Given the description of an element on the screen output the (x, y) to click on. 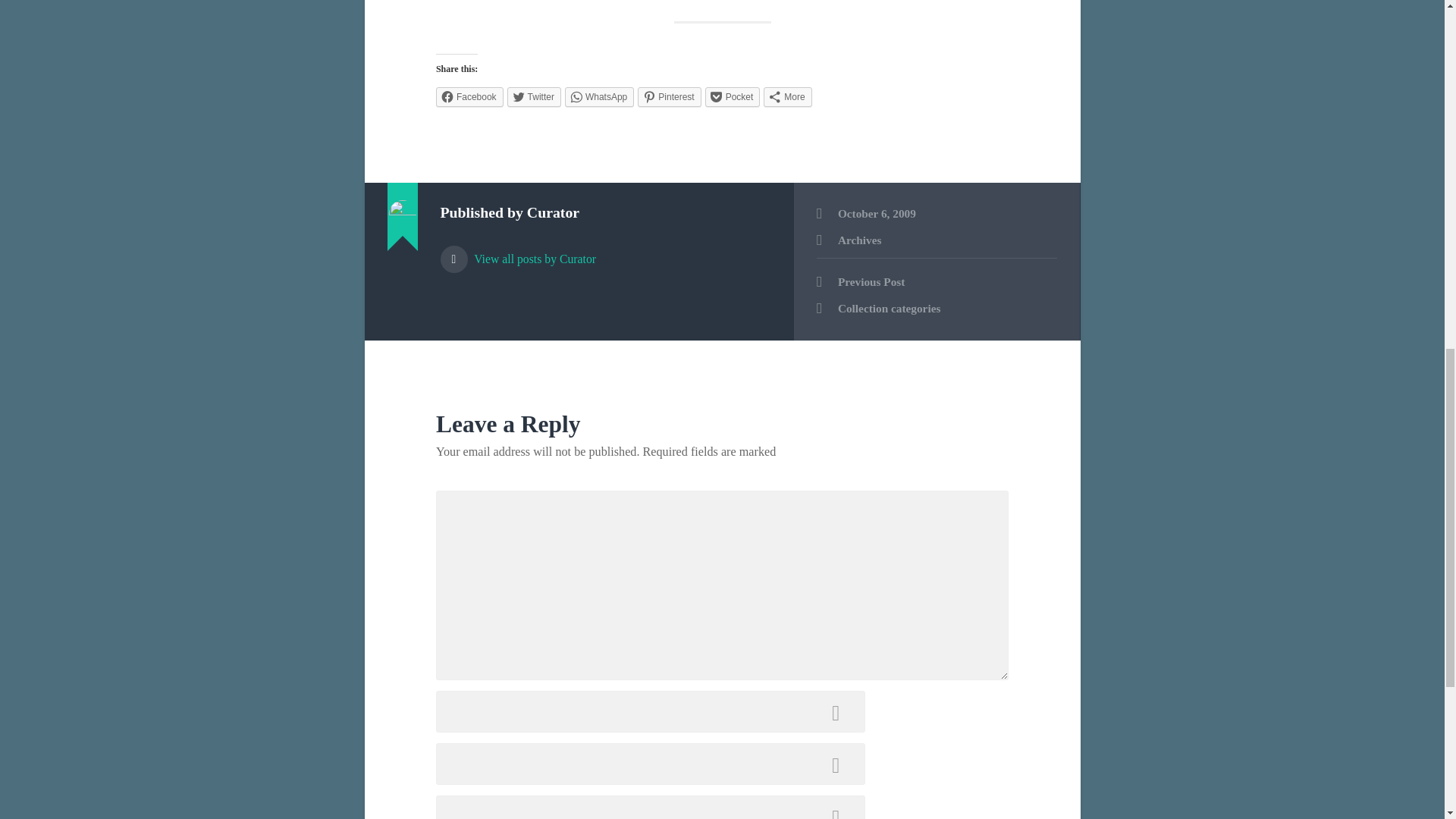
View all posts by Curator (604, 251)
Facebook (469, 96)
Click to share on Facebook (469, 96)
More (786, 96)
Pinterest (668, 96)
Click to share on WhatsApp (598, 96)
Pocket (732, 96)
Previous Post (937, 282)
Click to share on Pocket (732, 96)
Click to share on Pinterest (668, 96)
